Given the description of an element on the screen output the (x, y) to click on. 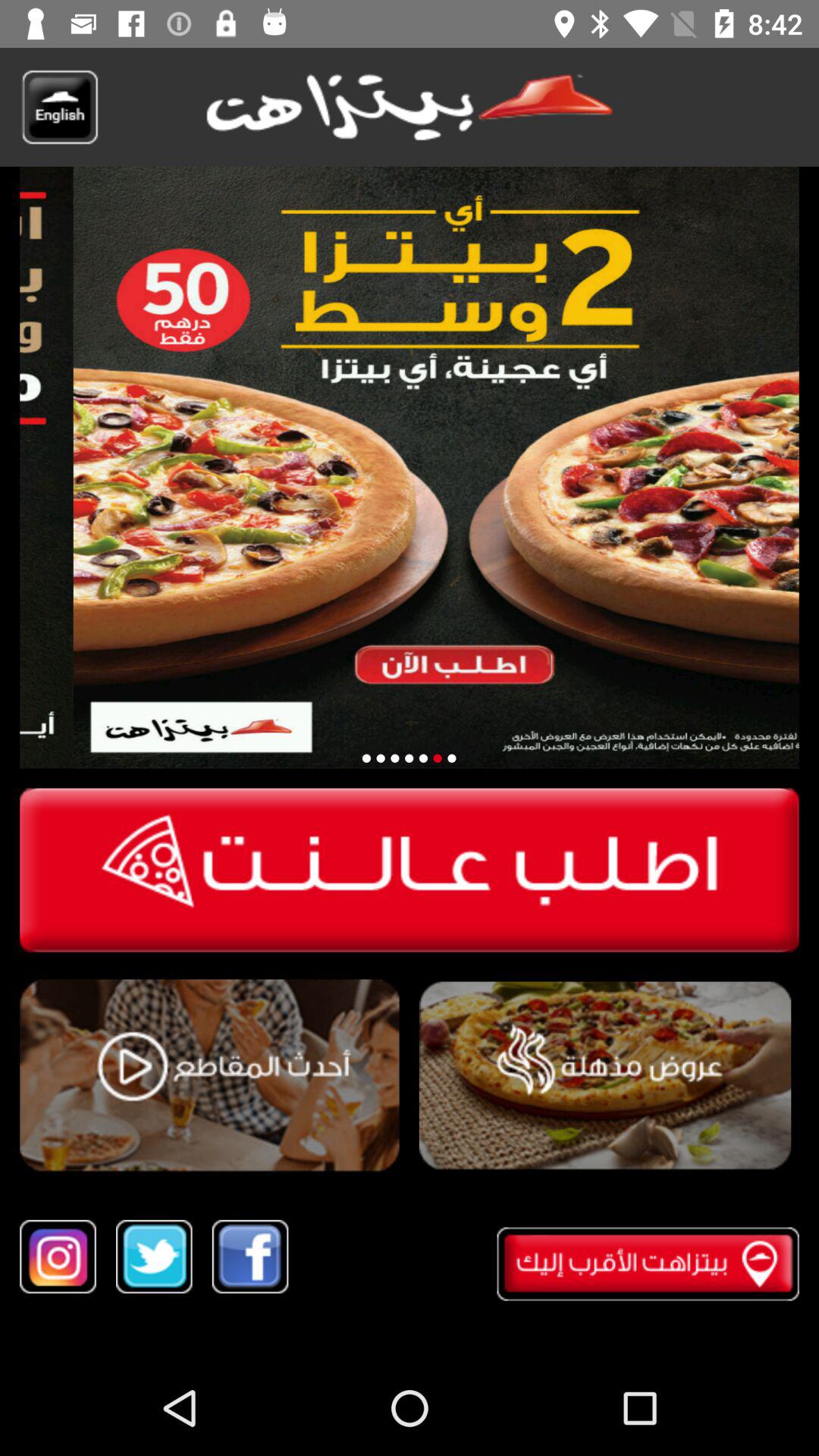
go to second special (380, 758)
